Given the description of an element on the screen output the (x, y) to click on. 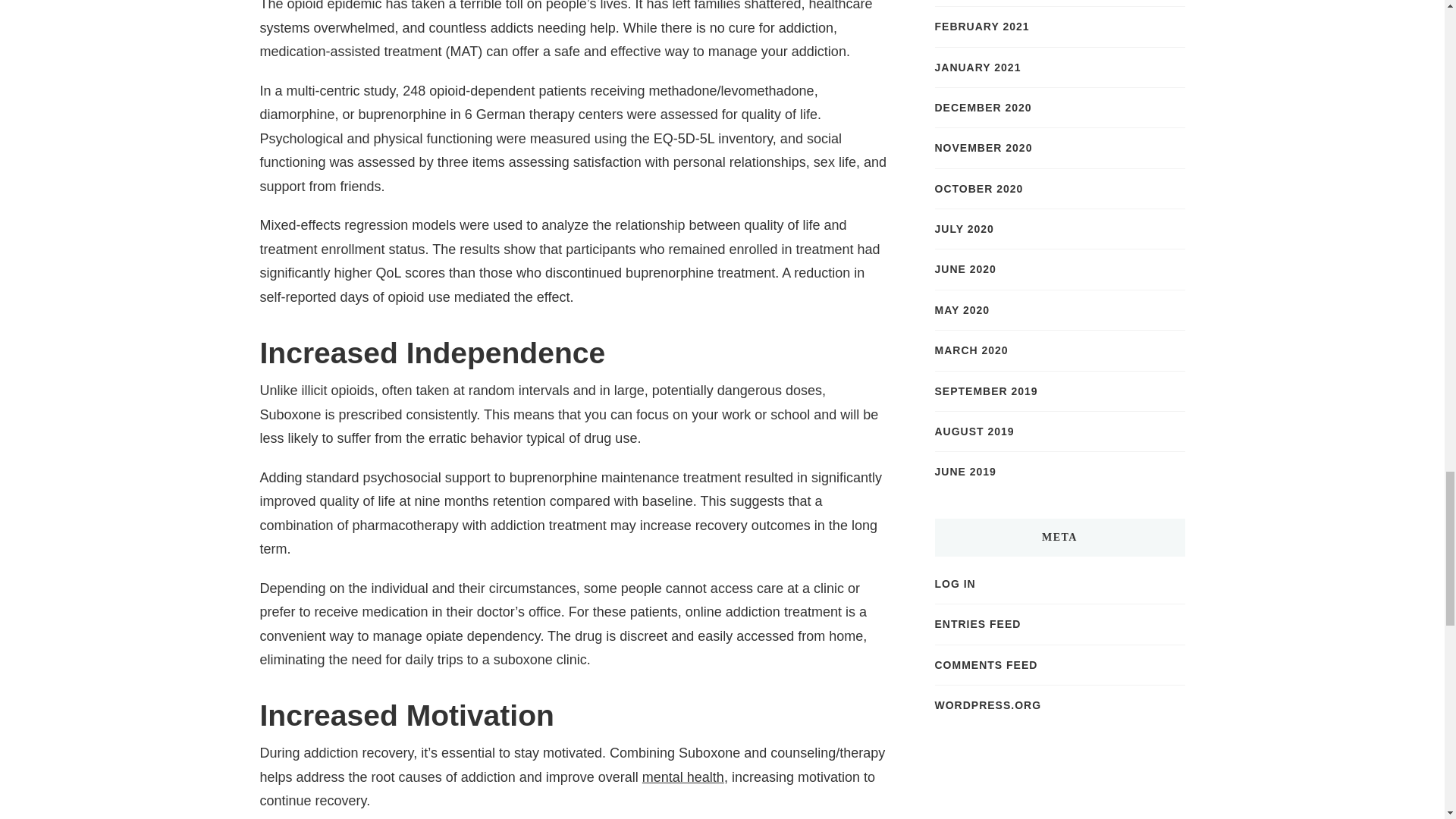
mental health (682, 776)
